Given the description of an element on the screen output the (x, y) to click on. 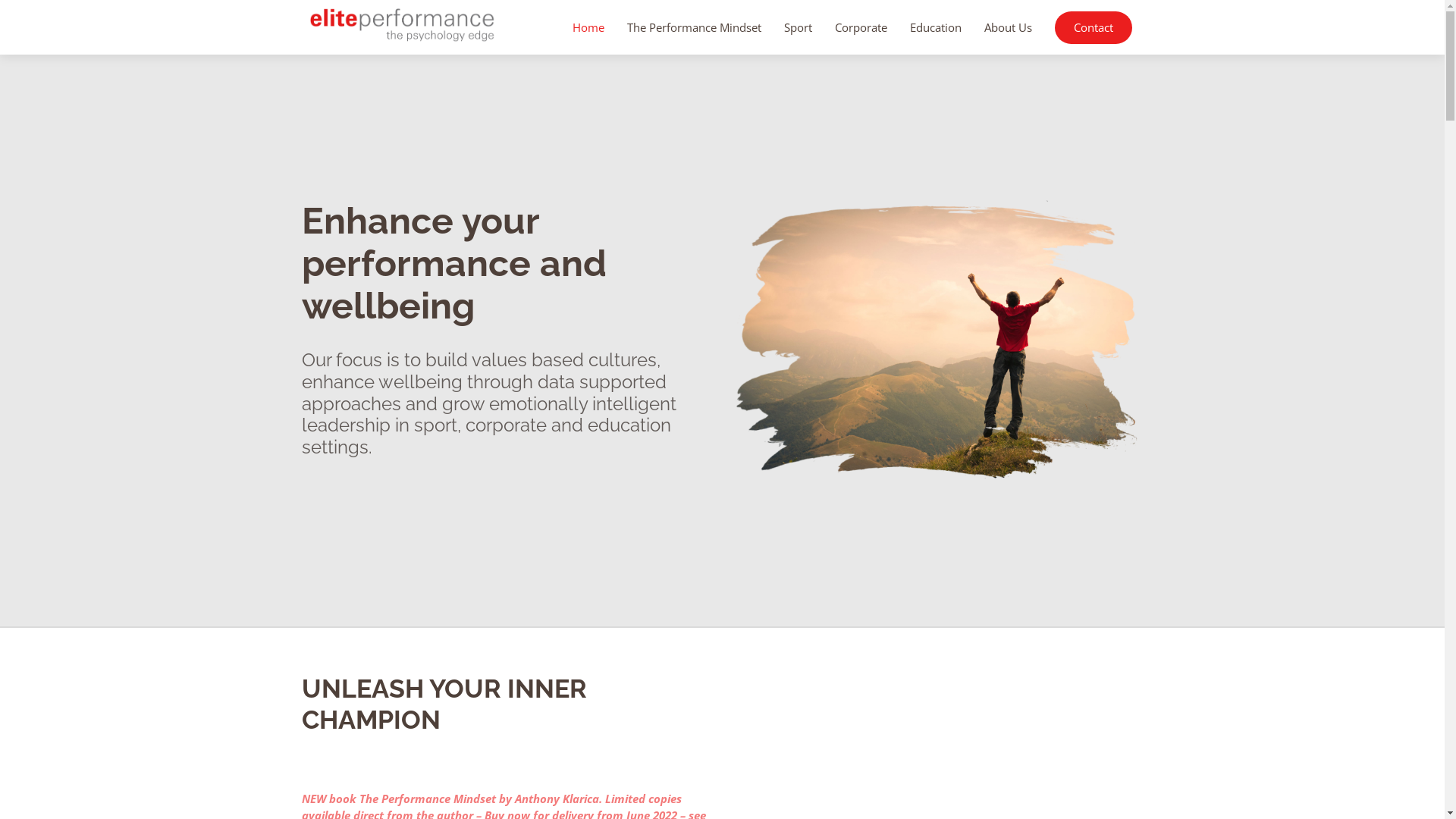
About Us Element type: text (1007, 27)
Contact Element type: text (1092, 27)
Corporate Element type: text (860, 27)
Sport Element type: text (796, 27)
The Performance Mindset Element type: text (693, 27)
Education Element type: text (934, 27)
Home Element type: text (588, 27)
